Given the description of an element on the screen output the (x, y) to click on. 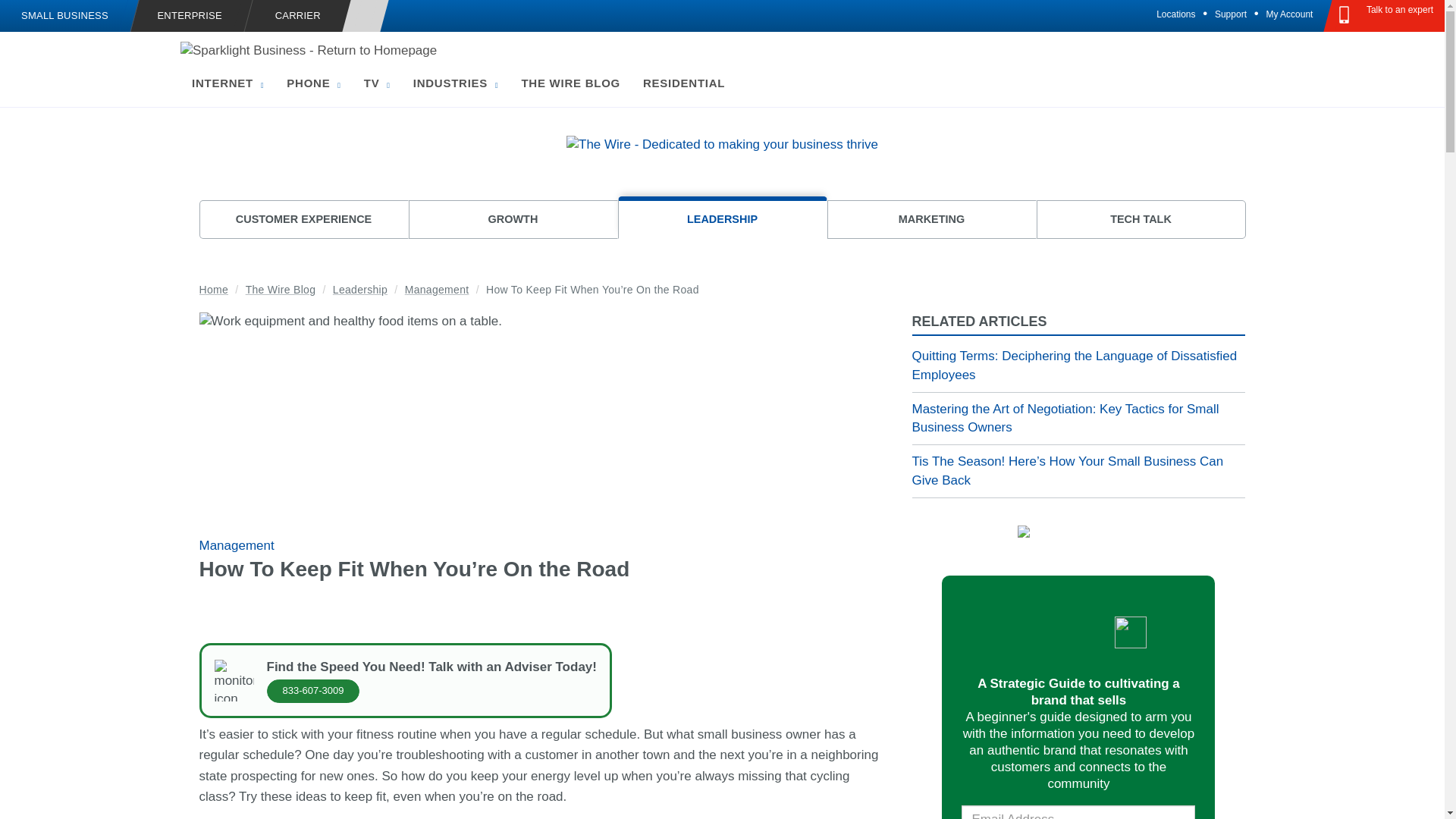
INTERNET (227, 83)
Home (308, 49)
Support (1230, 14)
Sparklight Business (79, 65)
My Account (1289, 14)
Locations (1175, 14)
CARRIER (297, 16)
TV (376, 83)
PHONE (313, 83)
